Given the description of an element on the screen output the (x, y) to click on. 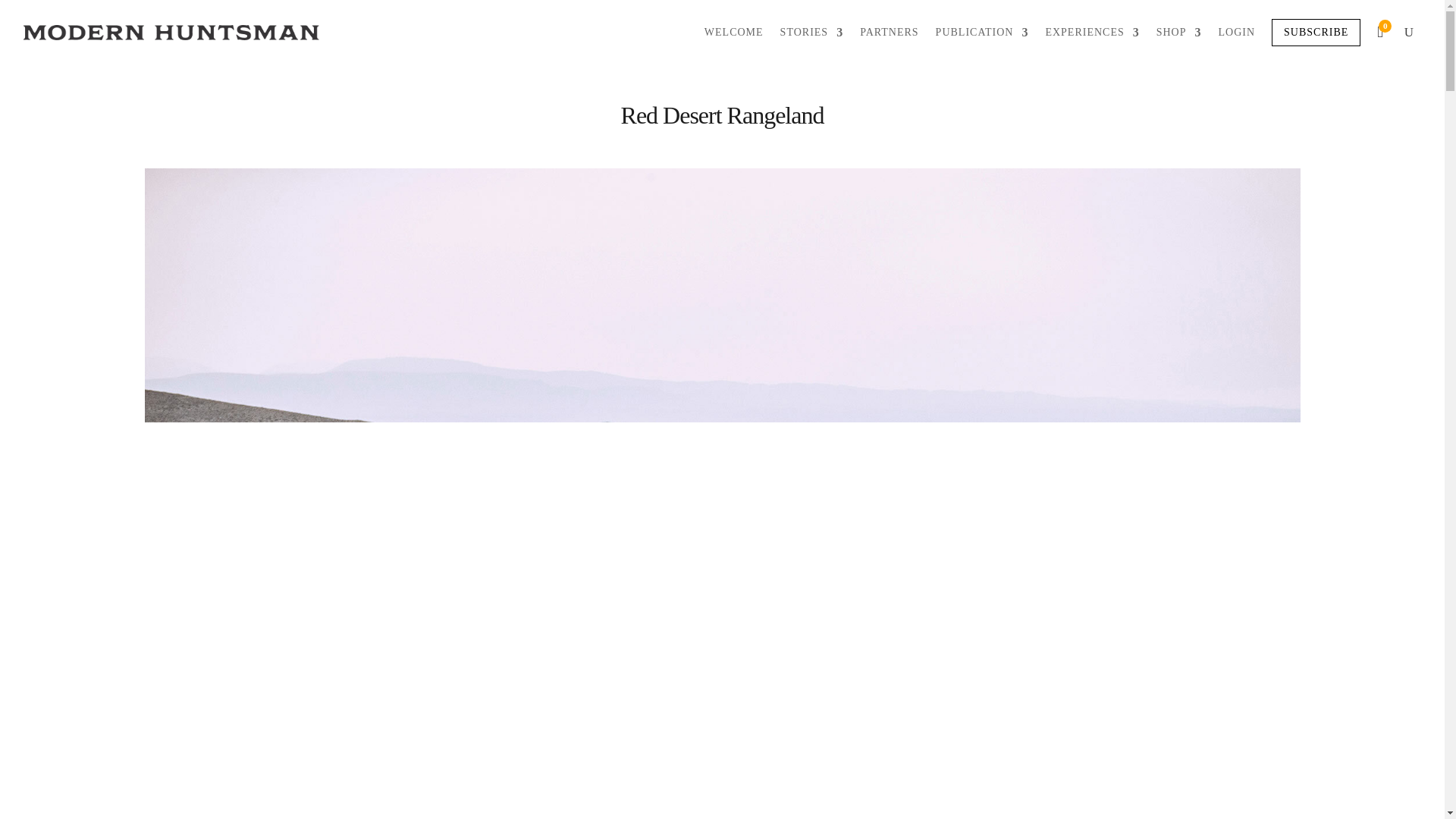
EXPERIENCES (1091, 32)
STORIES (812, 32)
WELCOME (733, 32)
PARTNERS (889, 32)
PUBLICATION (982, 32)
